Given the description of an element on the screen output the (x, y) to click on. 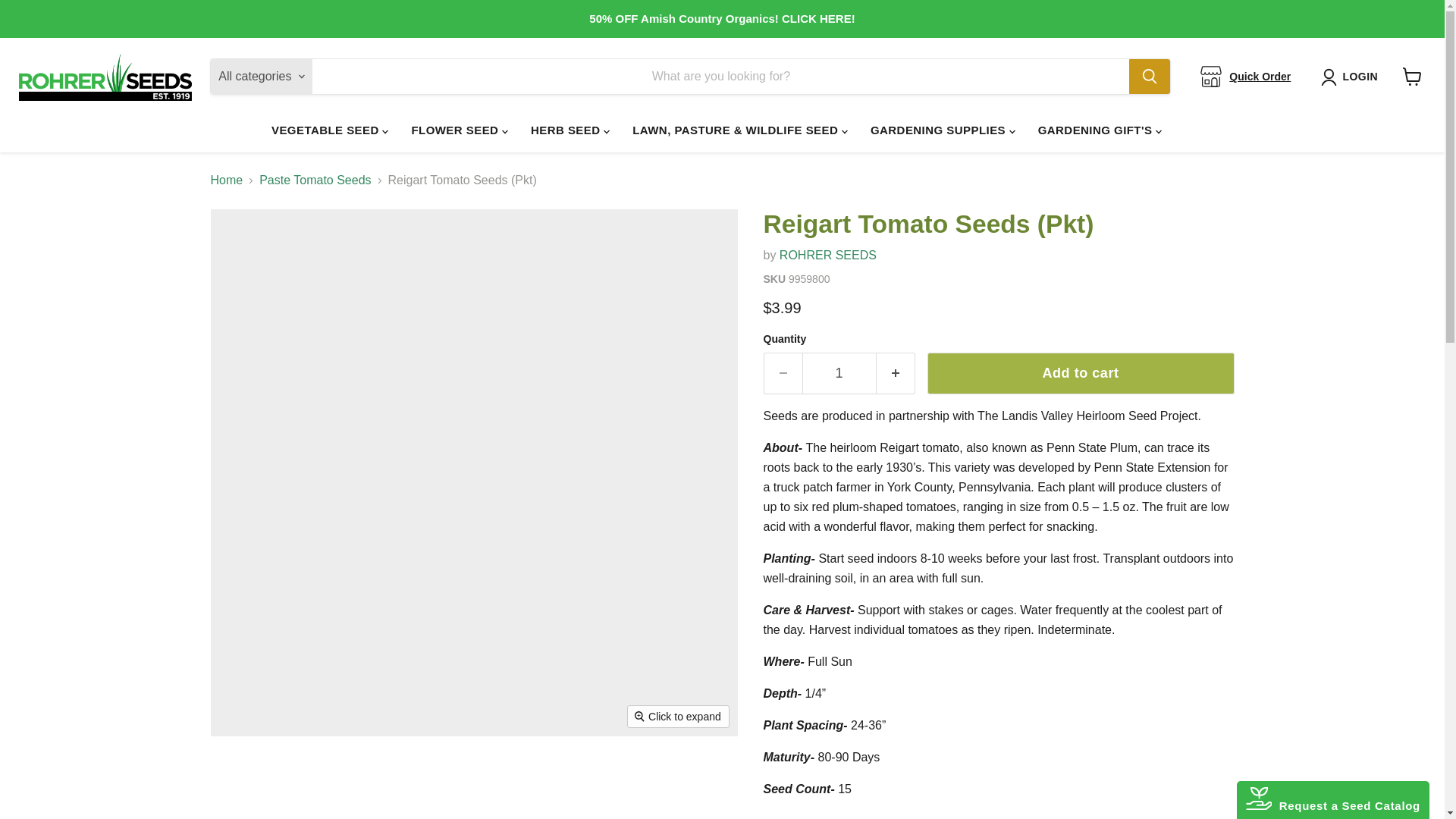
Quick Order (1259, 76)
LOGIN (1352, 76)
1 (839, 372)
View cart (1411, 76)
ROHRER SEEDS (827, 254)
